Given the description of an element on the screen output the (x, y) to click on. 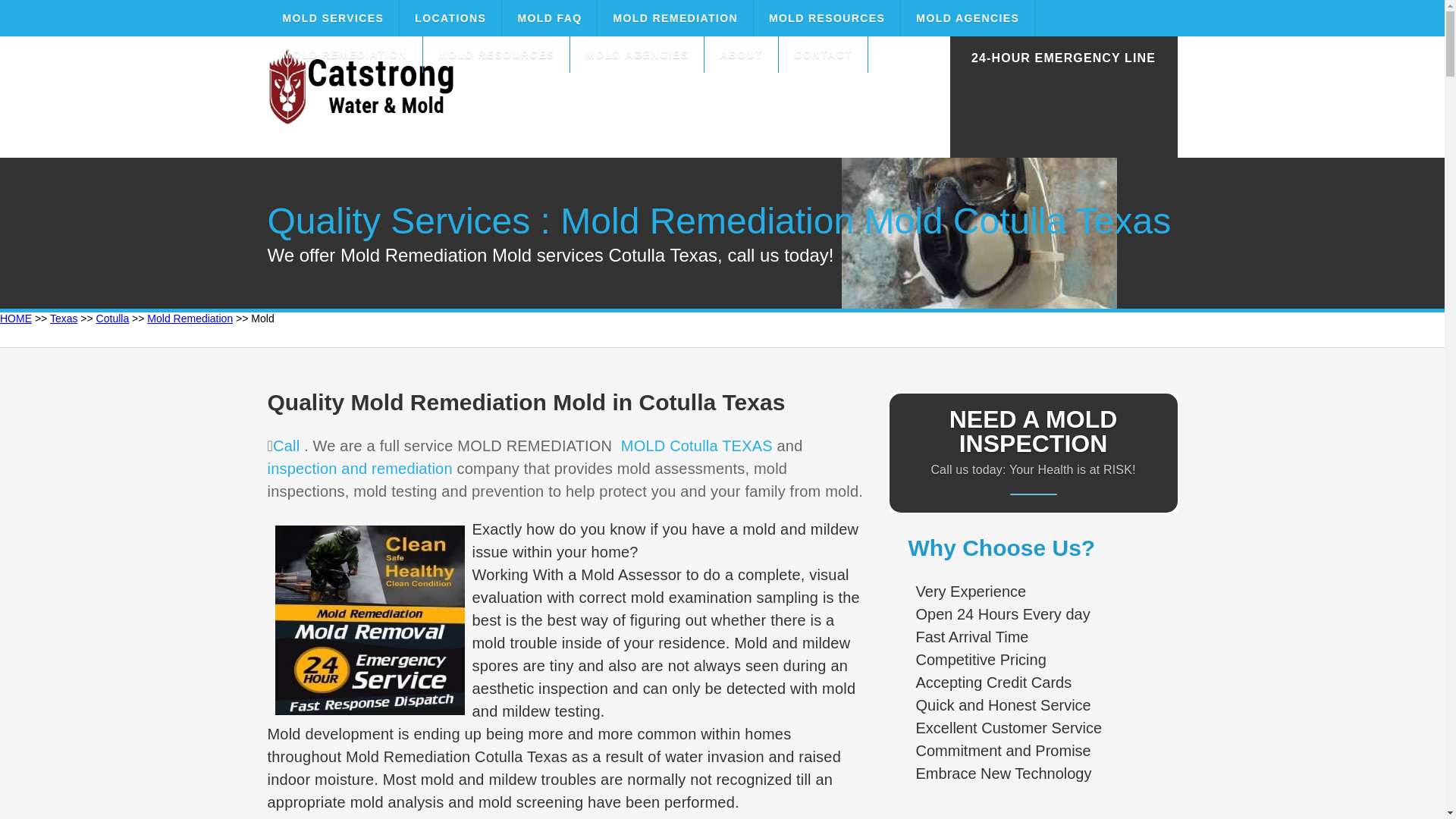
LOCATIONS (450, 18)
MOLD FAQ (549, 18)
MOLD SERVICES (332, 18)
MOLD REMEDIATION (674, 18)
